Given the description of an element on the screen output the (x, y) to click on. 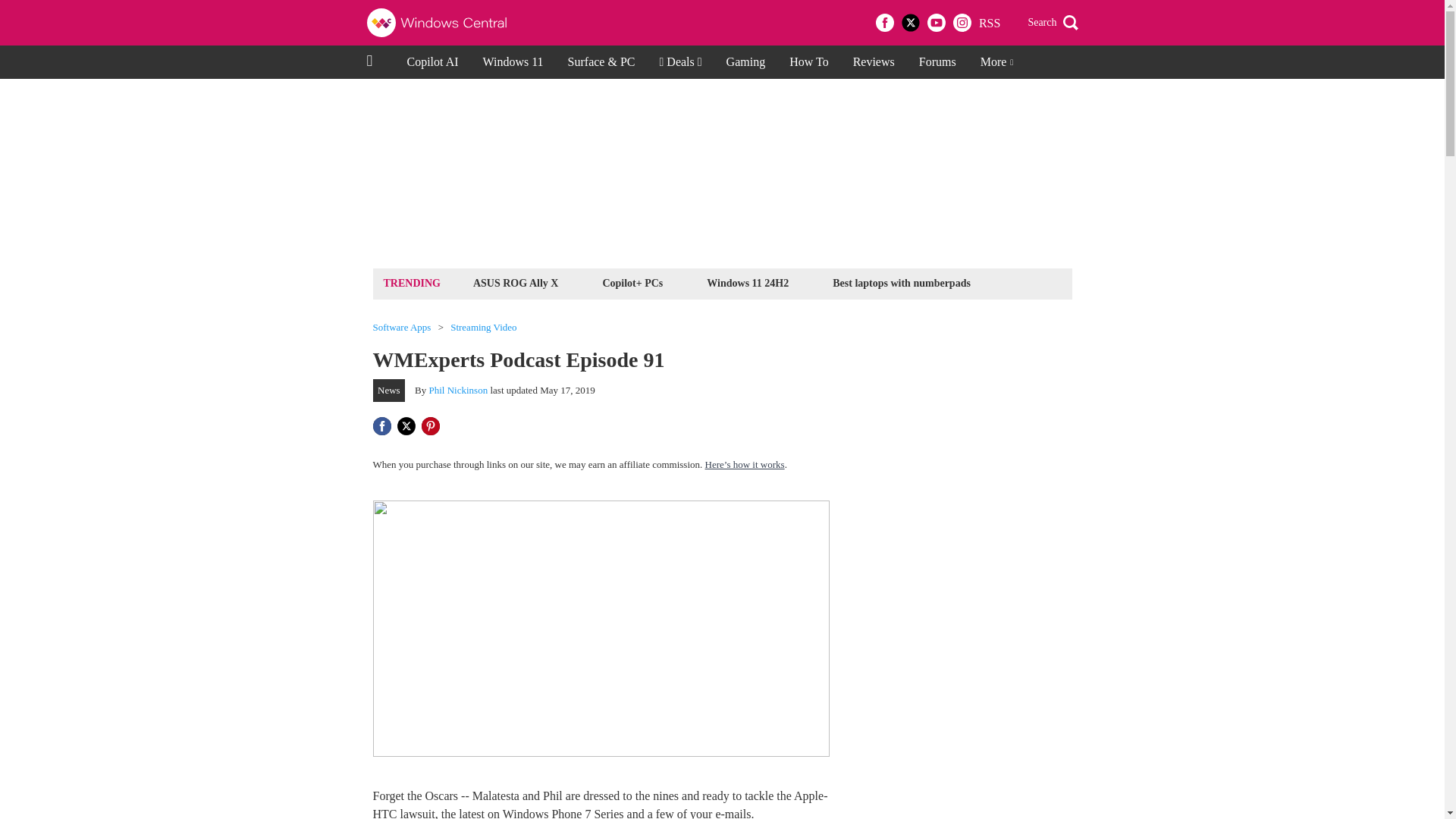
Phil Nickinson (458, 389)
Software Apps (401, 327)
News (389, 390)
ASUS ROG Ally X (515, 282)
How To (808, 61)
Best laptops with numberpads (901, 282)
Windows 11 24H2 (747, 282)
Reviews (874, 61)
Forums (937, 61)
Copilot AI (432, 61)
Windows 11 (513, 61)
Gaming (745, 61)
Streaming Video (482, 327)
RSS (989, 22)
